Given the description of an element on the screen output the (x, y) to click on. 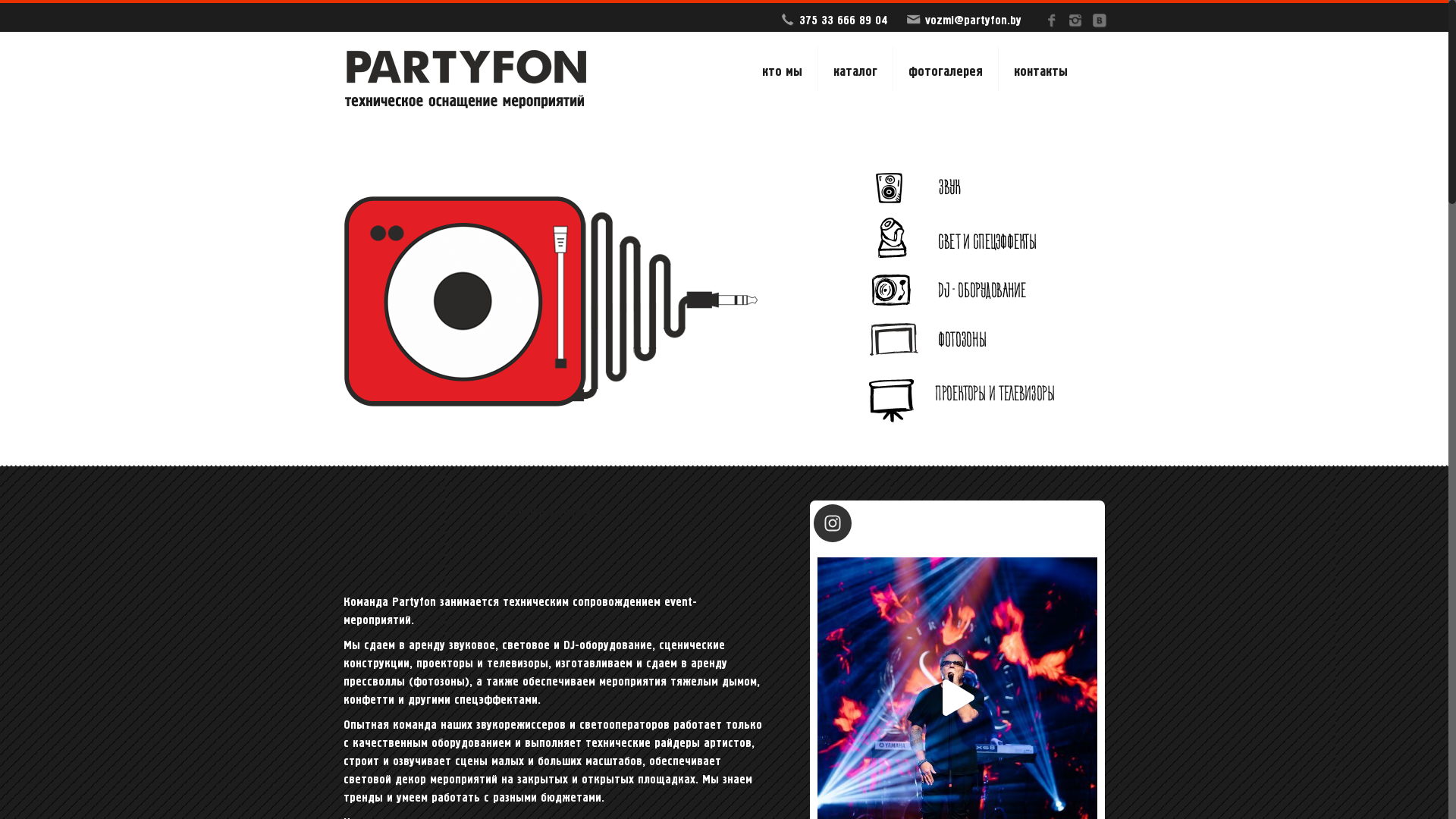
vozmi@partyfon.by Element type: text (973, 18)
375 33 666 89 04 Element type: text (843, 18)
VKontakte Element type: hover (1098, 18)
partyfonby Element type: text (855, 523)
Facebook Element type: hover (1050, 18)
Instagram Element type: hover (1074, 18)
